Given the description of an element on the screen output the (x, y) to click on. 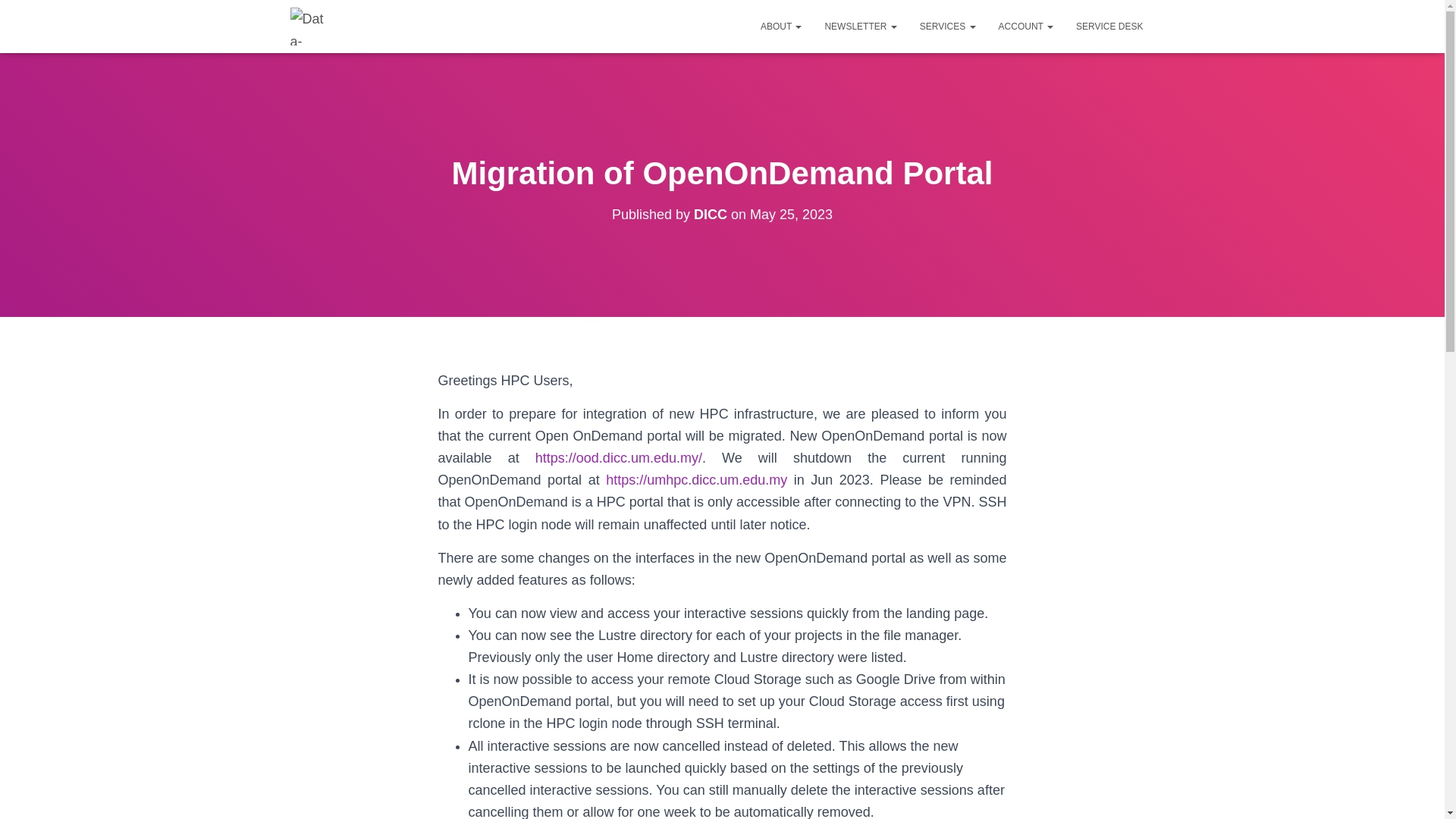
SERVICE DESK (1109, 26)
Newsletter (859, 26)
DICC (710, 214)
ABOUT (780, 26)
ACCOUNT (1025, 26)
SERVICES (947, 26)
Services (947, 26)
Data-Intensive Computing Centre (309, 26)
NEWSLETTER (859, 26)
About (780, 26)
